Given the description of an element on the screen output the (x, y) to click on. 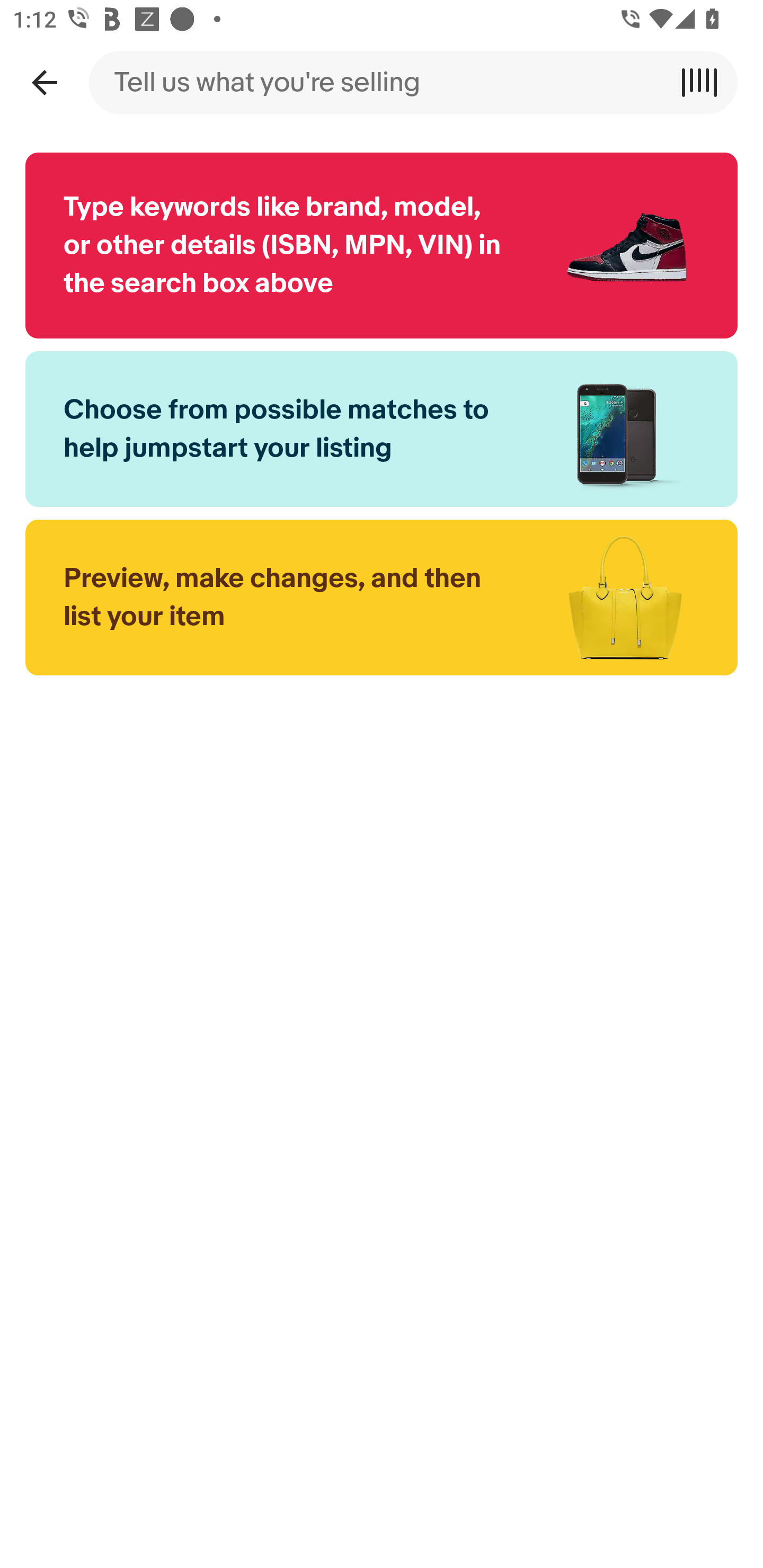
Navigate up (44, 82)
Scan a barcode (705, 82)
Tell us what you're selling (381, 82)
